Given the description of an element on the screen output the (x, y) to click on. 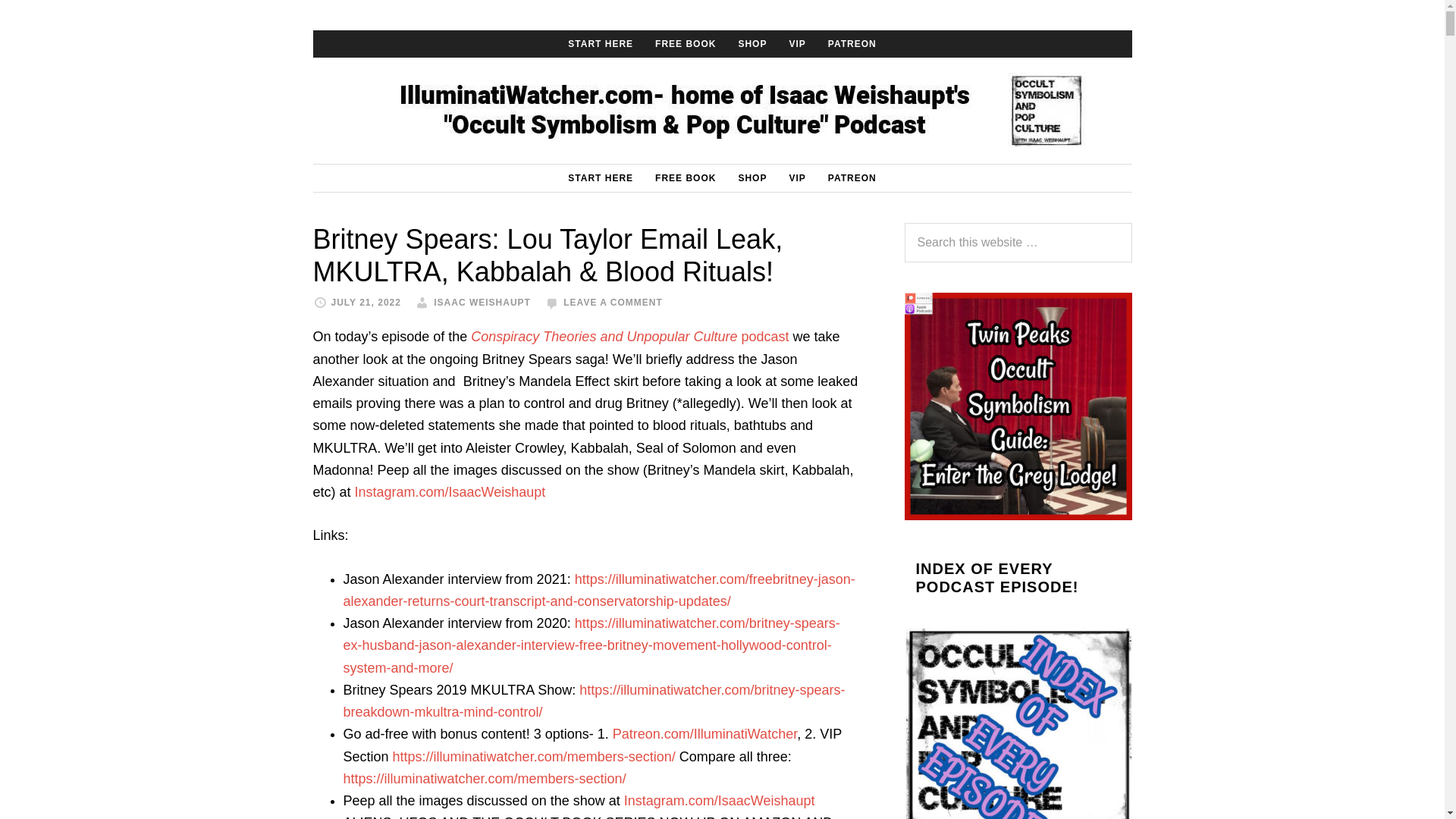
SHOP (752, 177)
FREE BOOK (685, 177)
VIP (795, 177)
SHOP (752, 43)
START HERE (600, 177)
VIP (795, 43)
LEAVE A COMMENT (612, 302)
ISAAC WEISHAUPT (482, 302)
FREE BOOK (685, 43)
ILLUMINATIWATCHER (722, 110)
Conspiracy Theories and Unpopular Culture podcast (629, 336)
START HERE (600, 43)
PATREON (851, 177)
PATREON (851, 43)
